Given the description of an element on the screen output the (x, y) to click on. 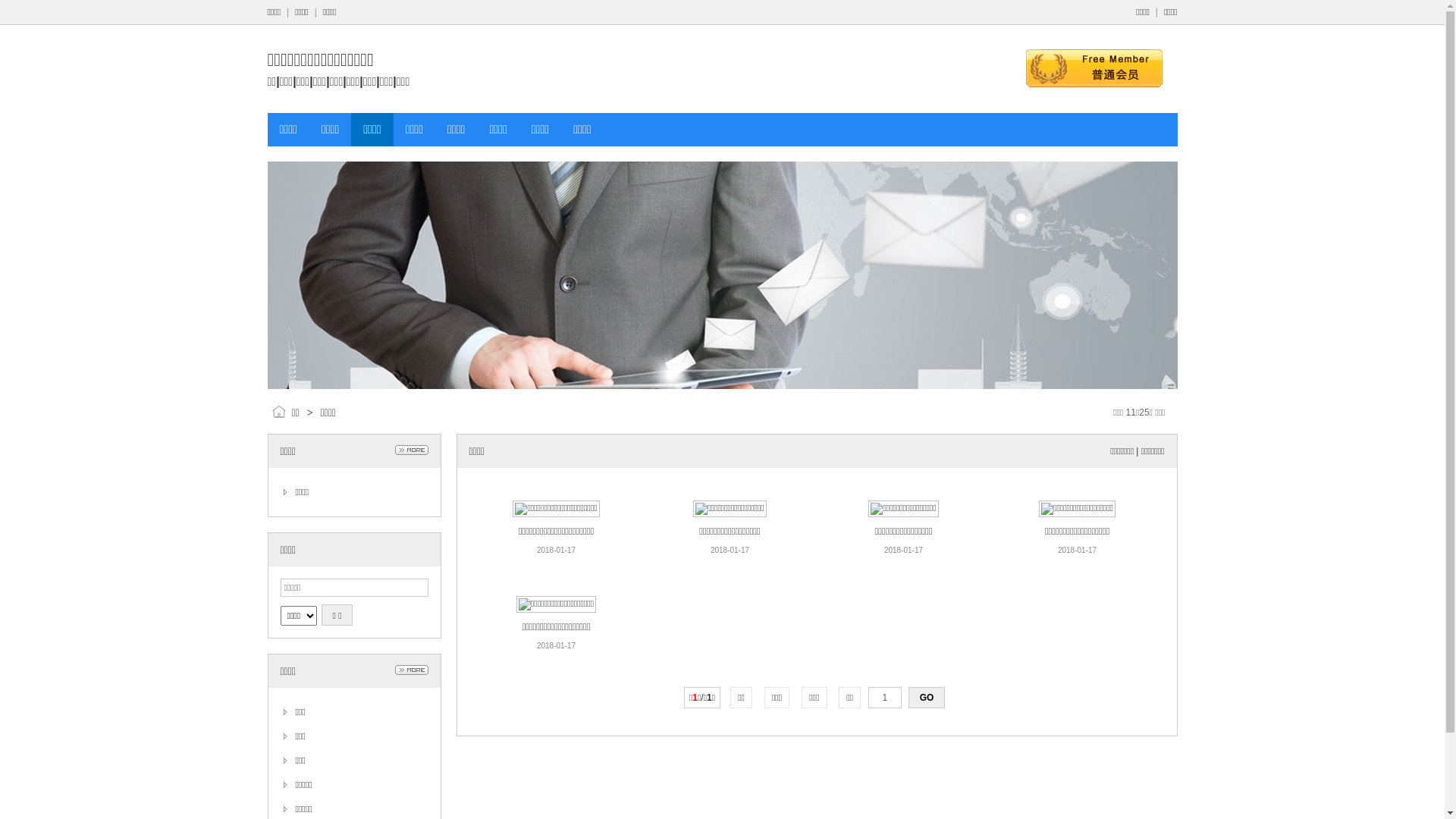
GO Element type: text (926, 697)
